Given the description of an element on the screen output the (x, y) to click on. 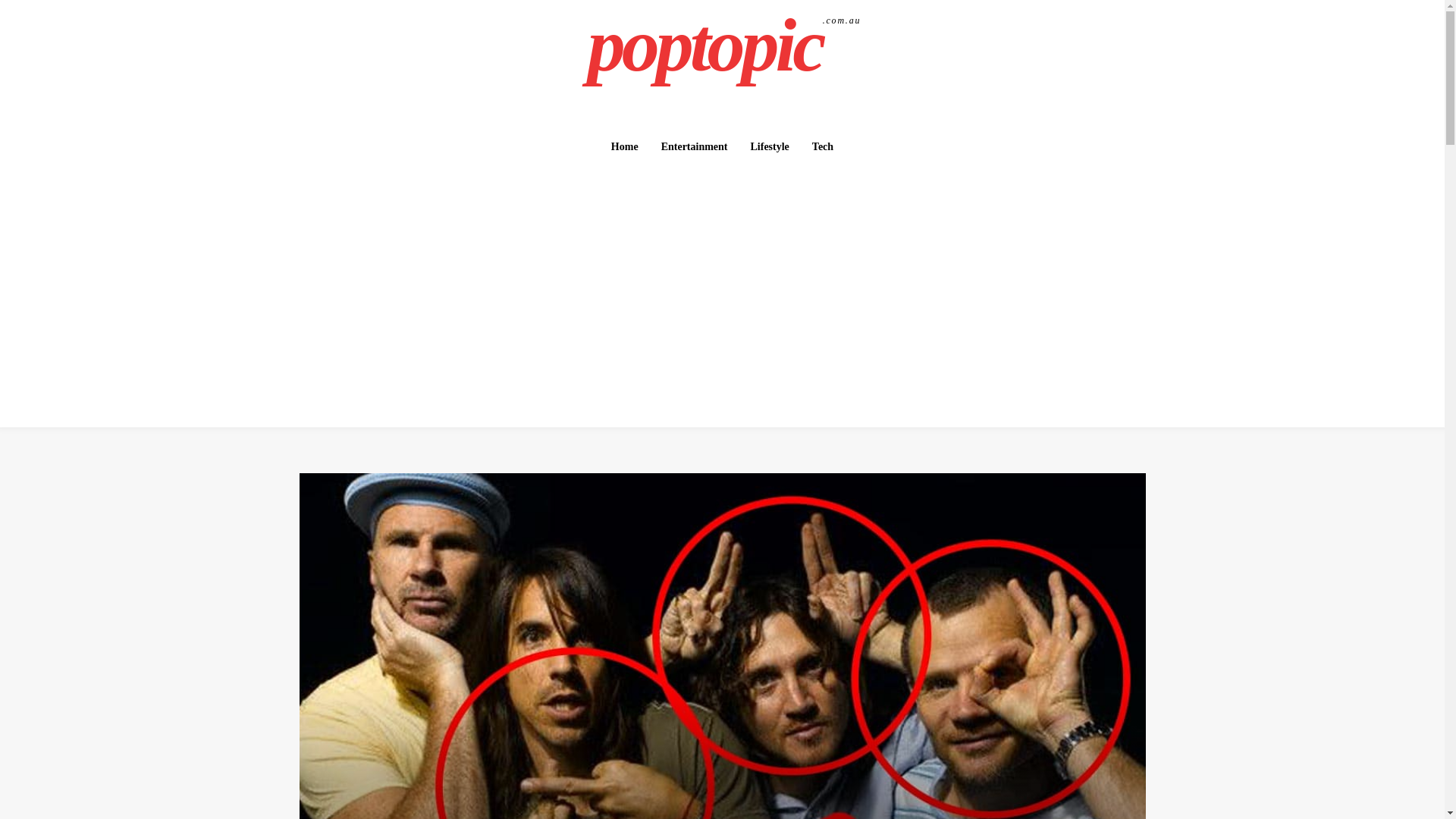
Tech (823, 146)
POPTOPIC (724, 45)
Home (724, 45)
Entertainment (625, 146)
Lifestyle (694, 146)
